Given the description of an element on the screen output the (x, y) to click on. 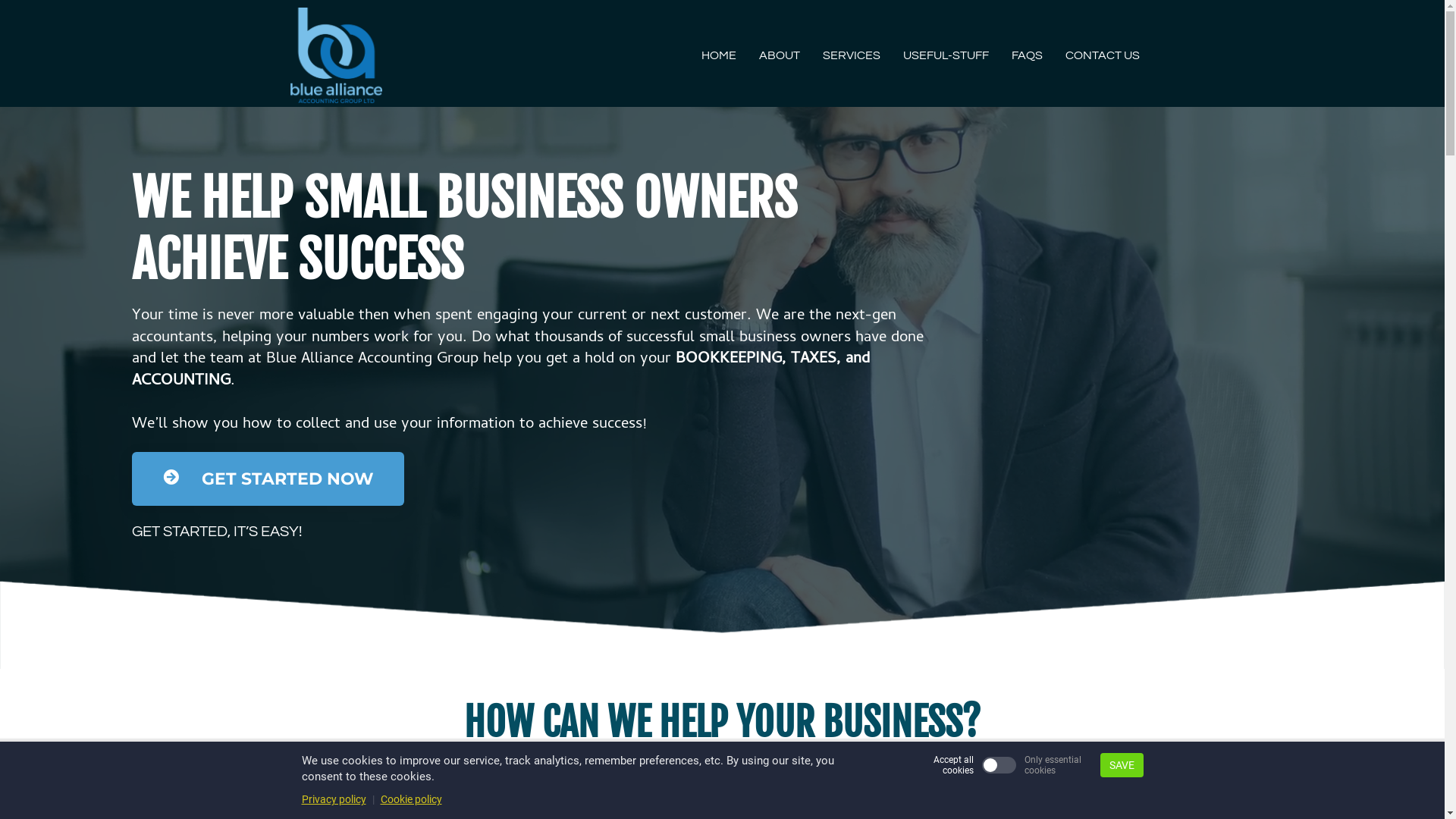
SERVICES Element type: text (851, 55)
ABOUT Element type: text (779, 55)
SAVE Element type: text (1120, 765)
Cookie policy Element type: text (411, 799)
GET STARTED NOW Element type: text (267, 478)
FAQS Element type: text (1026, 55)
CONTACT US Element type: text (1102, 55)
USEFUL-STUFF Element type: text (945, 55)
Privacy policy Element type: text (333, 799)
HOME Element type: text (718, 55)
